Given the description of an element on the screen output the (x, y) to click on. 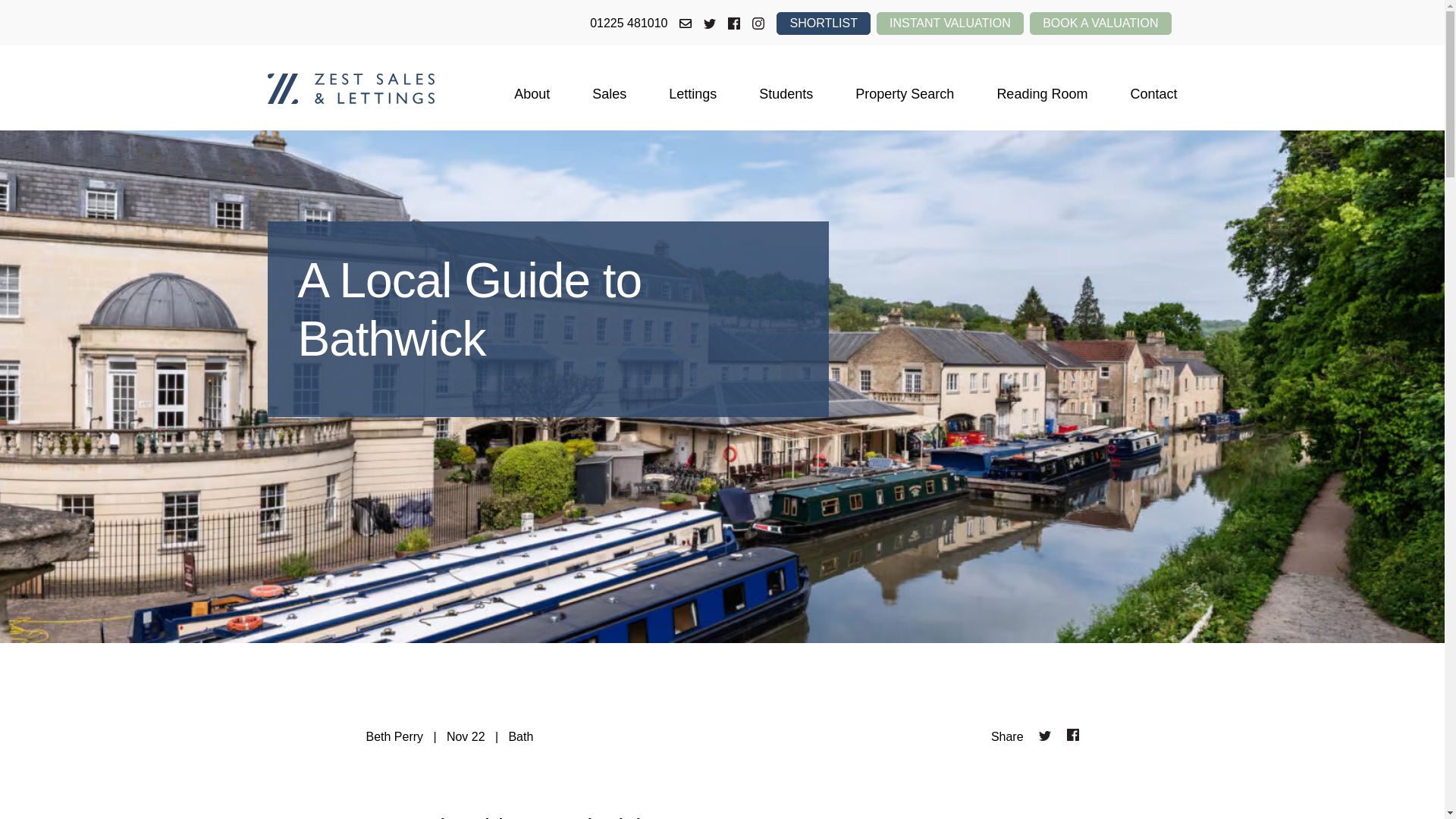
Students (785, 93)
01225 481010 (627, 24)
SHORTLIST (823, 23)
Bath (520, 736)
About (531, 93)
Property Search (904, 93)
Reading Room (1041, 93)
INSTANT VALUATION (949, 23)
Sales (609, 93)
Contact (1152, 93)
Lettings (692, 93)
